Given the description of an element on the screen output the (x, y) to click on. 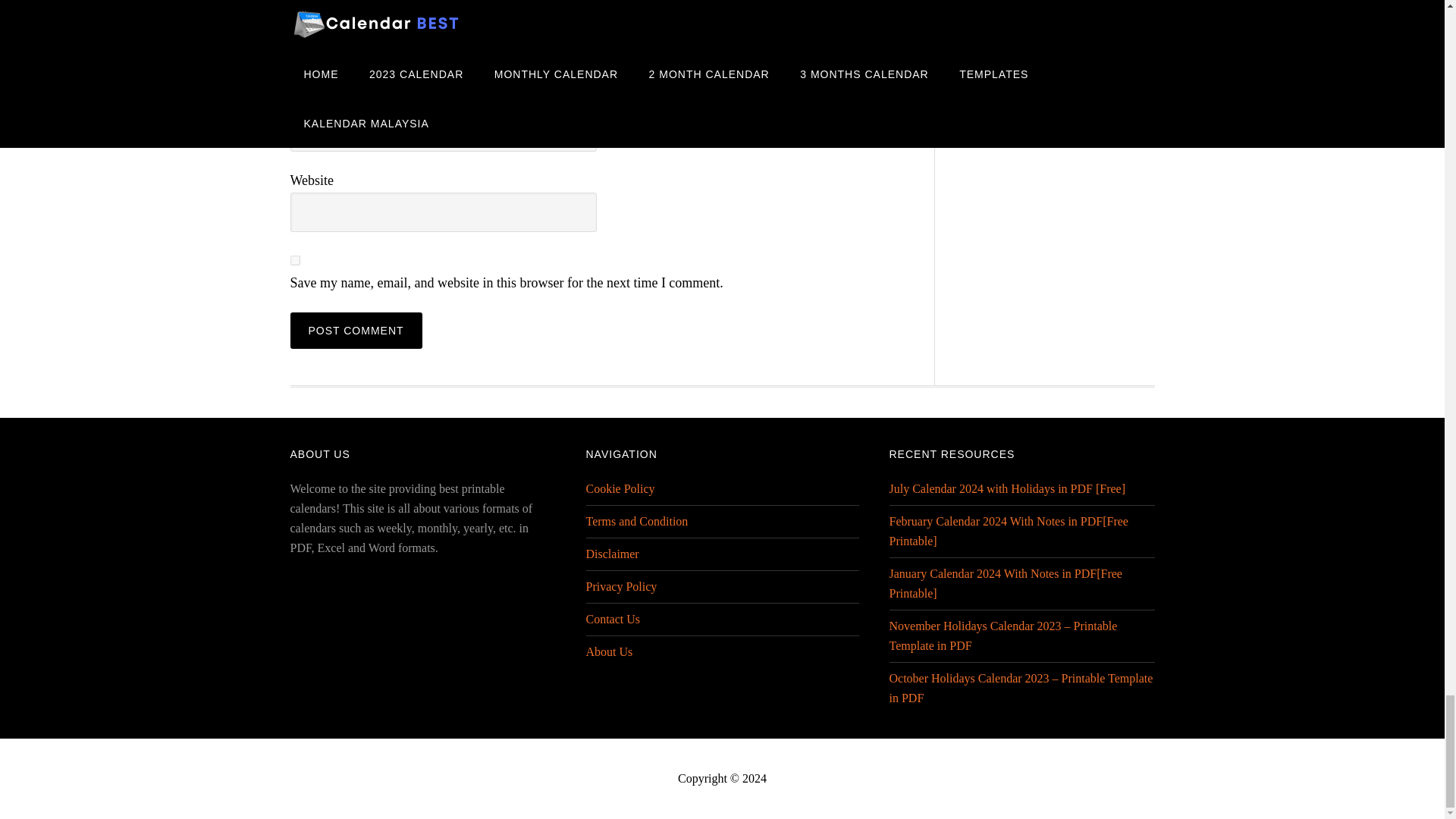
Post Comment (355, 330)
yes (294, 260)
Terms and Condition (636, 521)
Cookie Policy (619, 488)
Post Comment (355, 330)
